Given the description of an element on the screen output the (x, y) to click on. 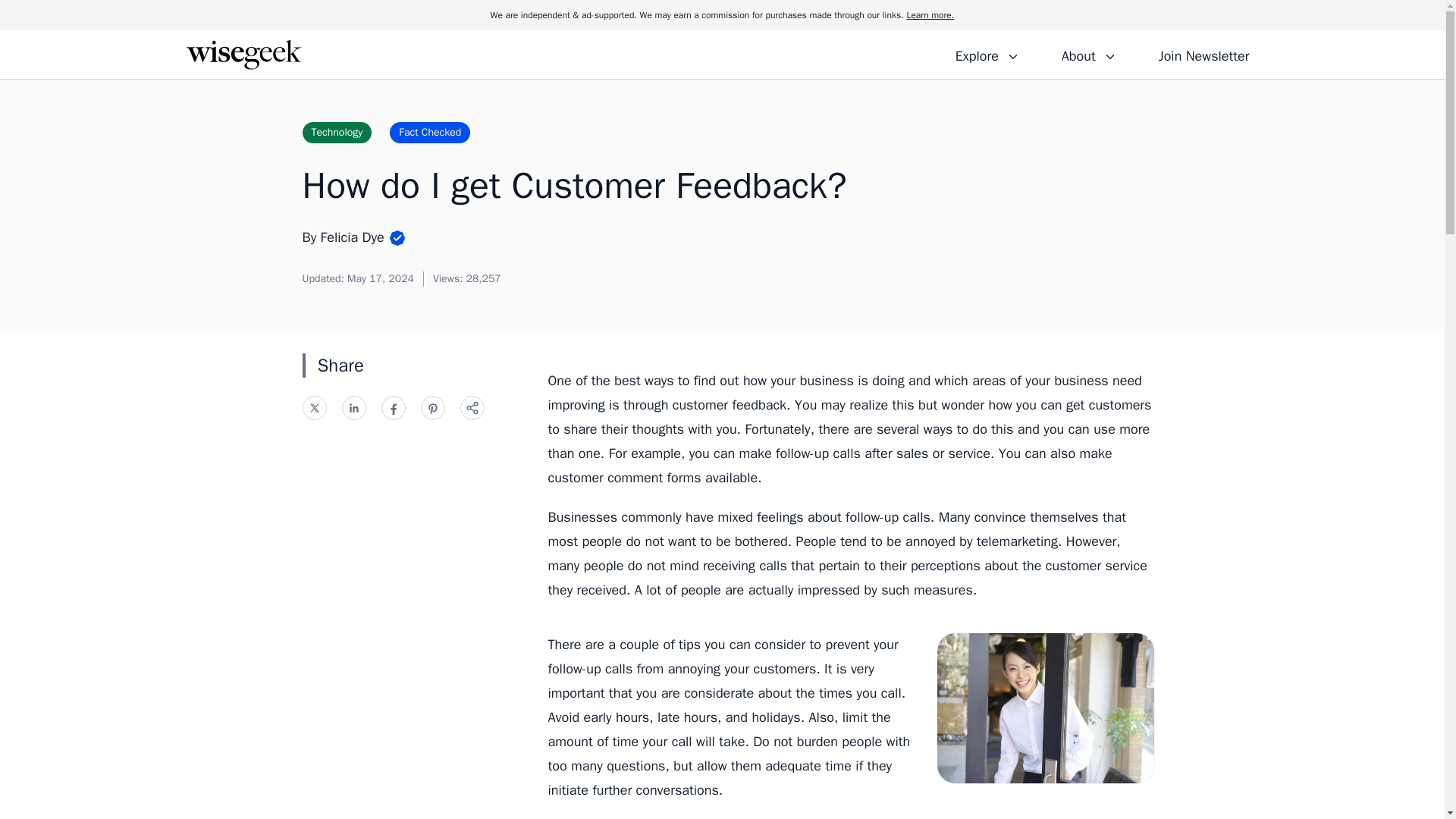
Explore (986, 54)
Join Newsletter (1202, 54)
About (1088, 54)
Fact Checked (430, 132)
Learn more. (929, 15)
Technology (336, 132)
